Given the description of an element on the screen output the (x, y) to click on. 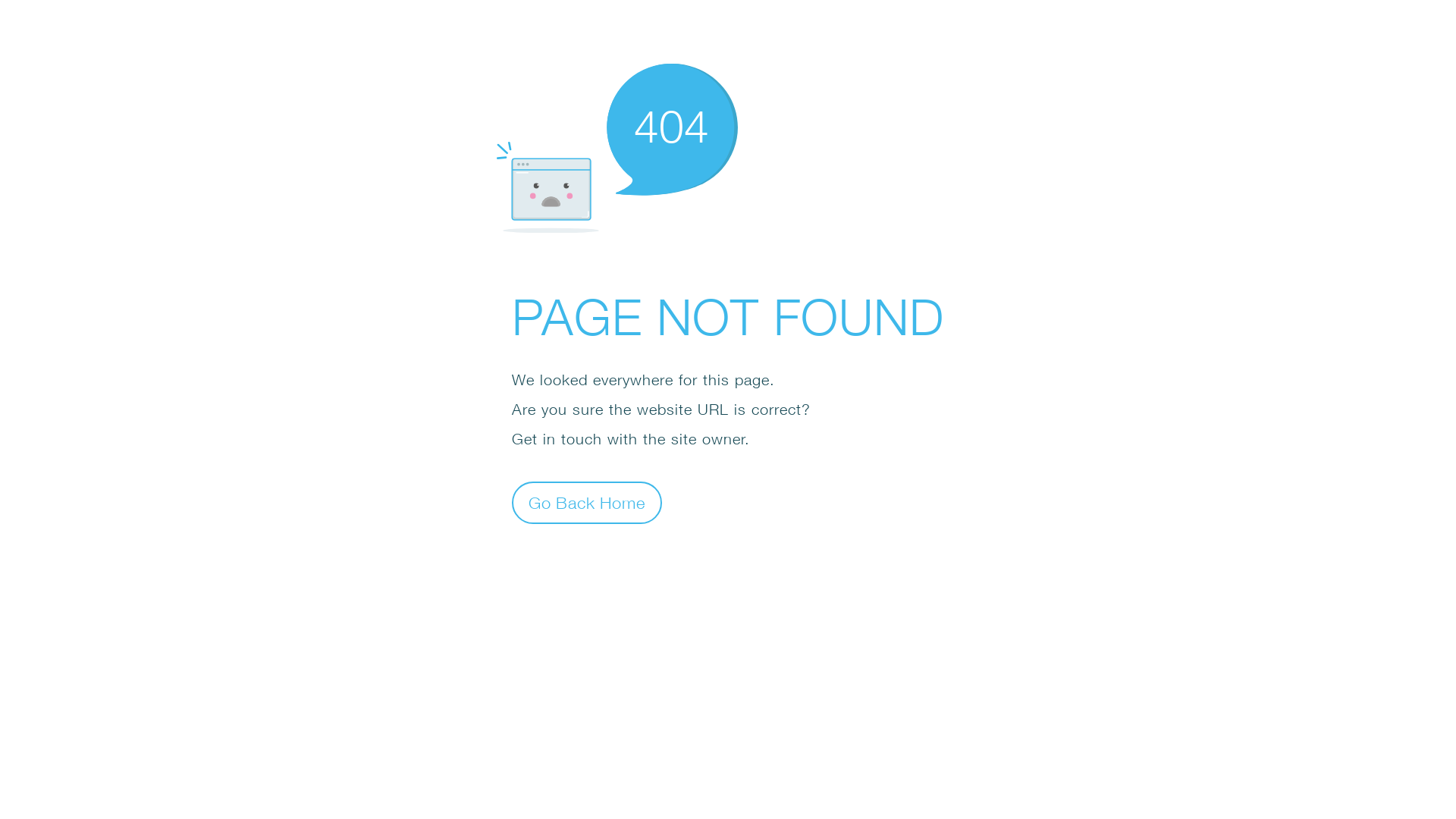
Go Back Home Element type: text (586, 502)
